Given the description of an element on the screen output the (x, y) to click on. 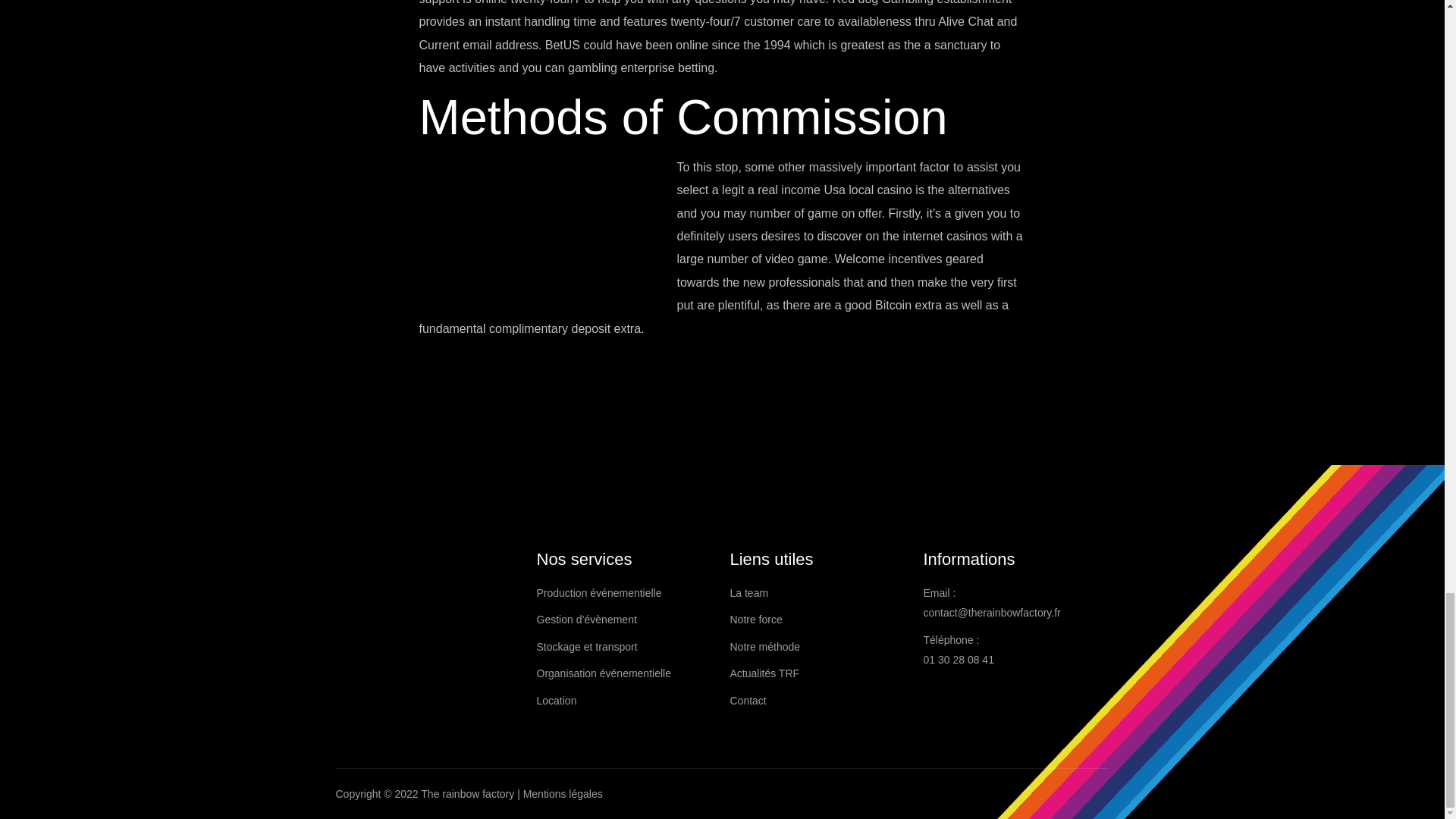
Informations (1012, 558)
Liens utiles (818, 558)
Nos services (625, 558)
